Given the description of an element on the screen output the (x, y) to click on. 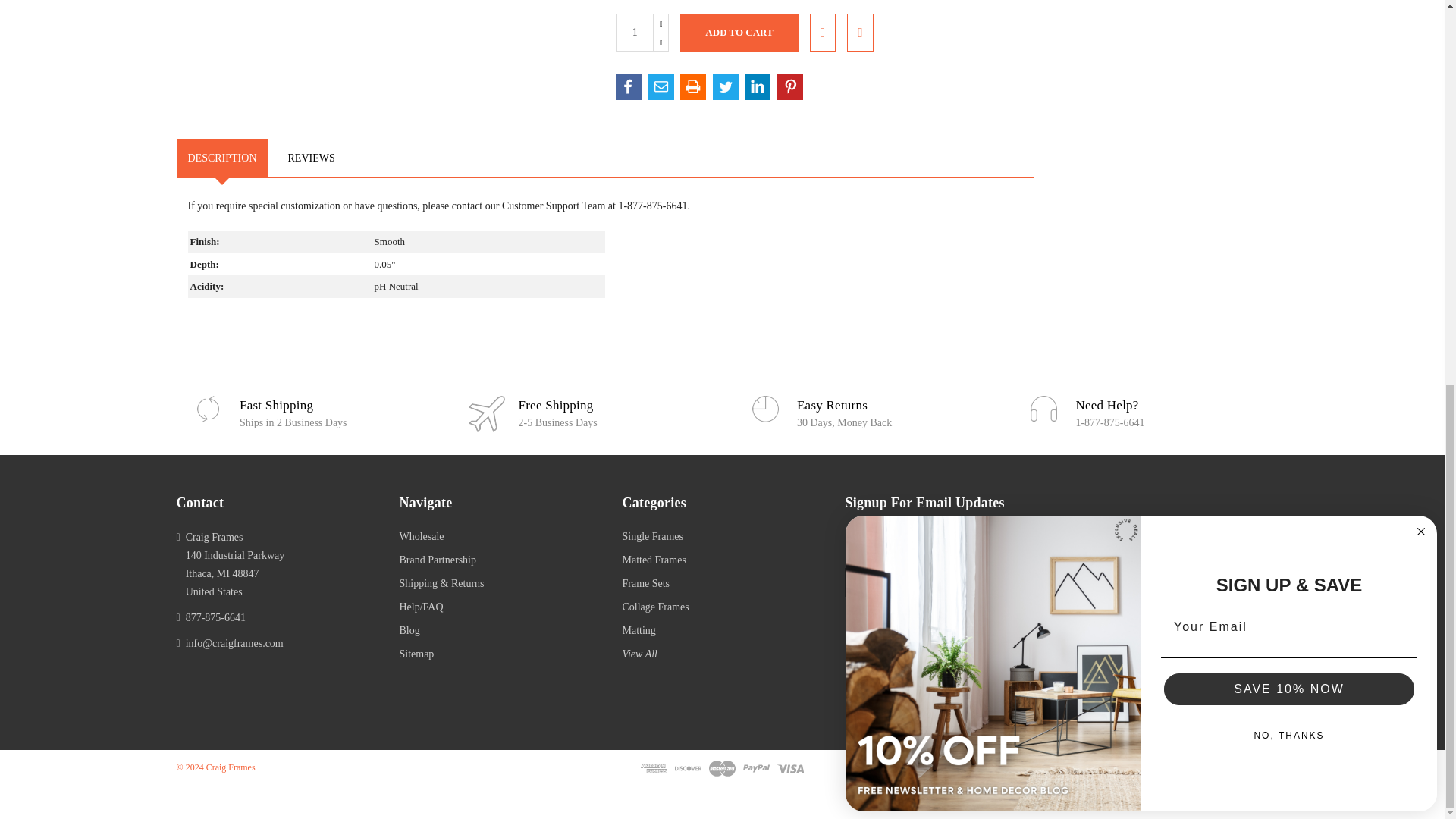
1 (634, 32)
Add to Cart (738, 32)
